Given the description of an element on the screen output the (x, y) to click on. 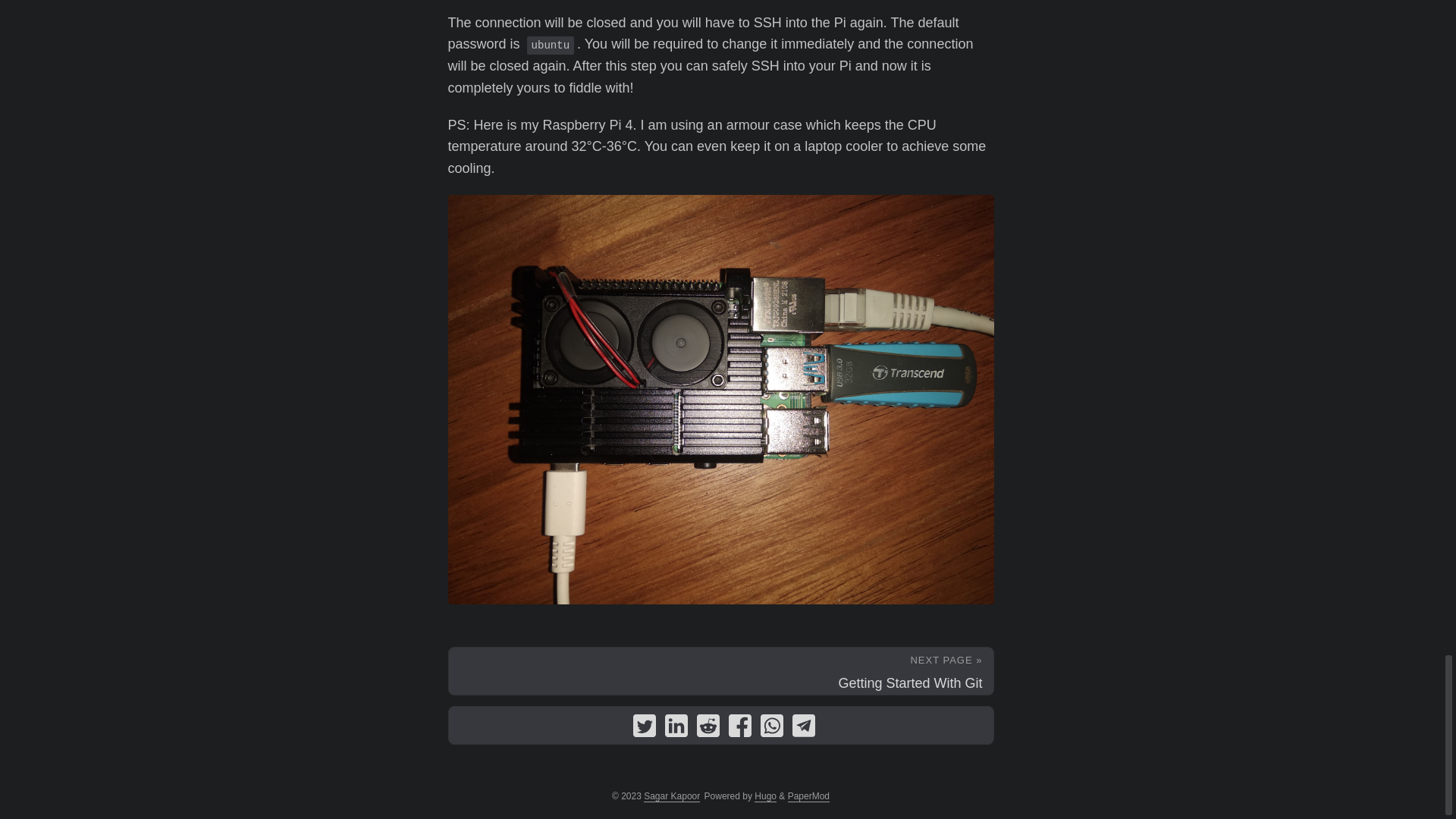
PaperMod (808, 796)
Hugo (765, 796)
Sagar Kapoor (671, 796)
